Given the description of an element on the screen output the (x, y) to click on. 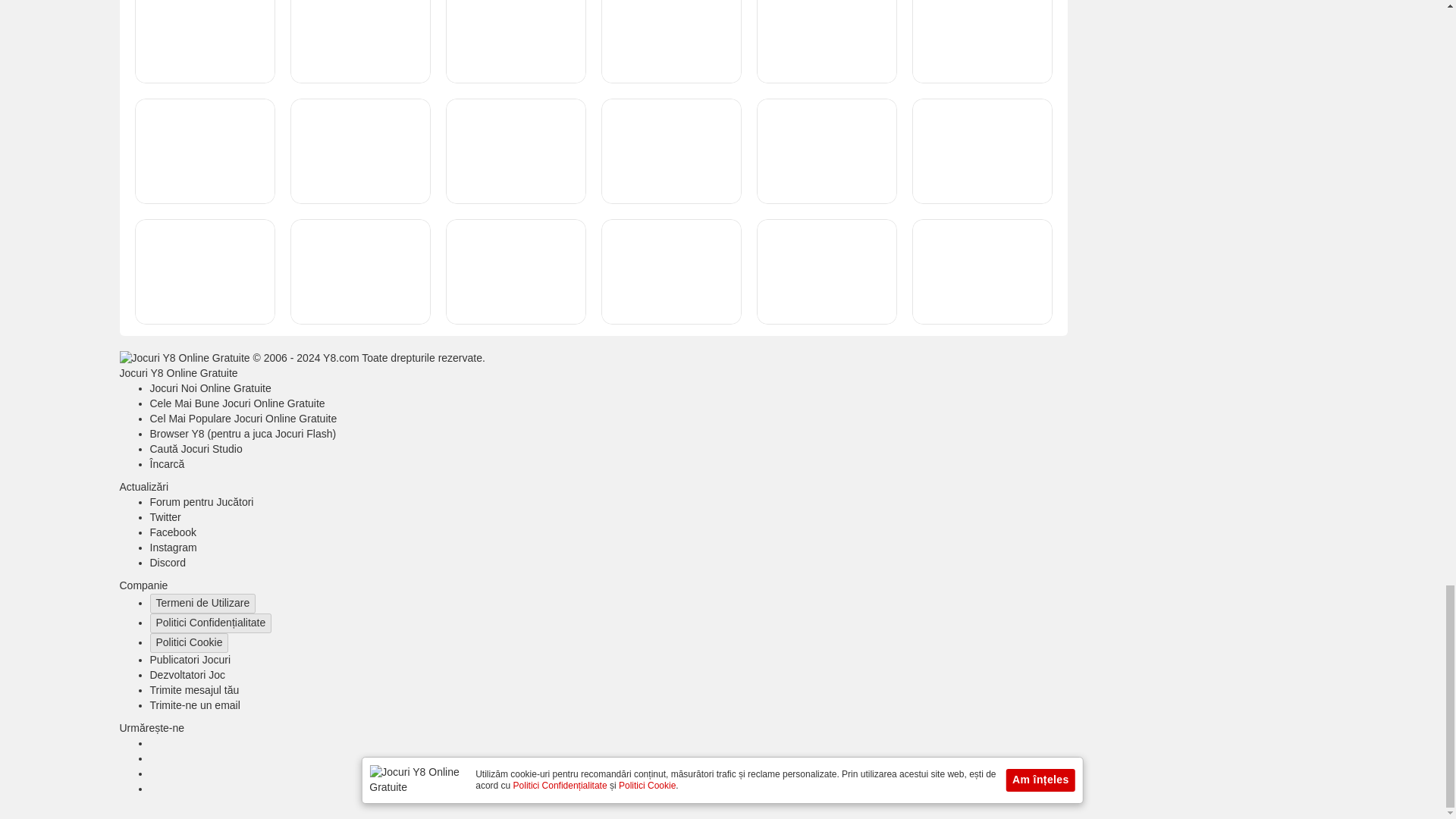
Politici Cookie (188, 642)
Termeni de Utilizare (202, 603)
